Given the description of an element on the screen output the (x, y) to click on. 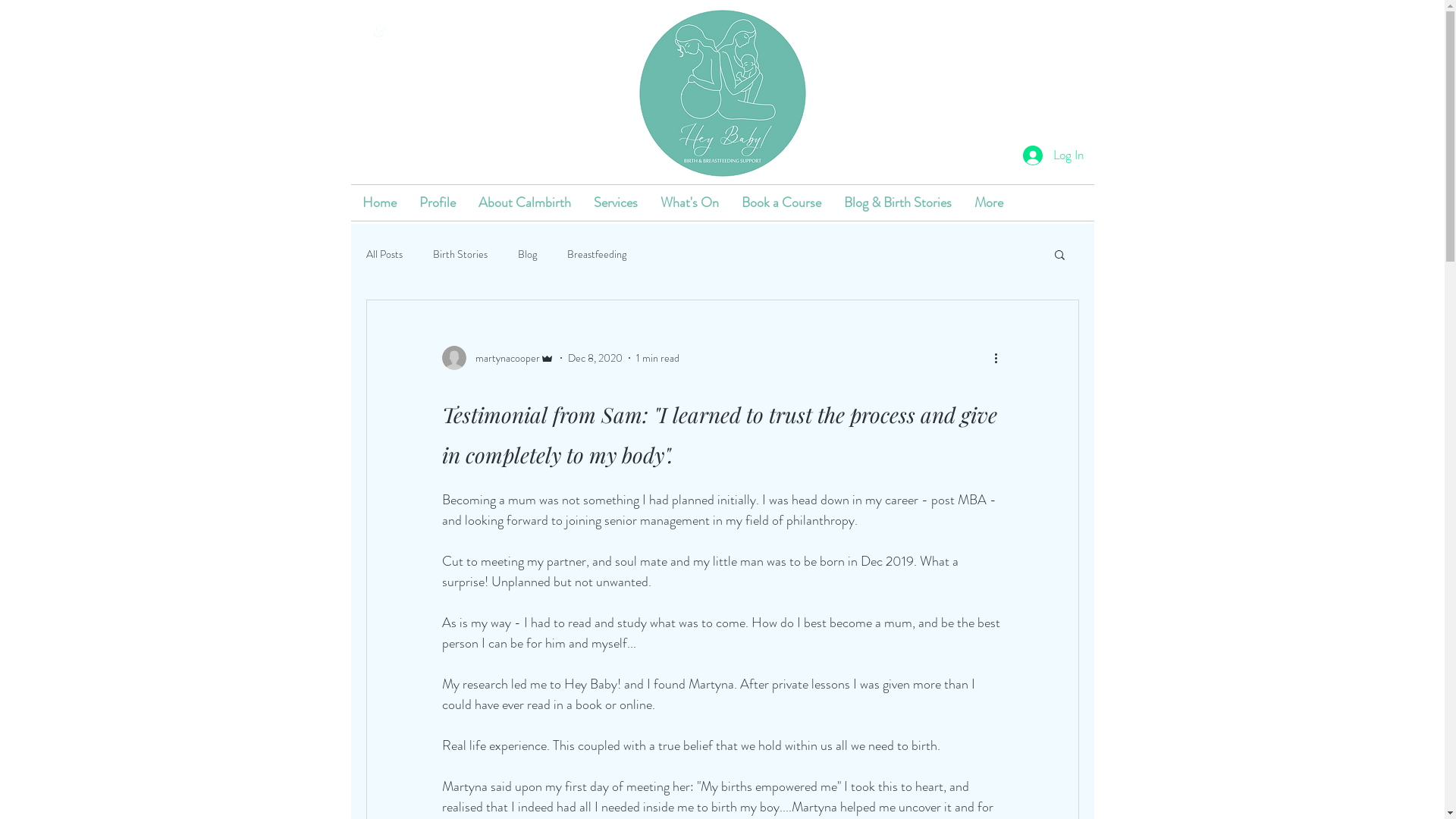
About Calmbirth Element type: text (524, 202)
All Posts Element type: text (383, 253)
Services Element type: text (615, 202)
& Element type: text (378, 30)
martynacooper Element type: text (497, 357)
Breastfeeding Element type: text (596, 253)
Blog Element type: text (526, 253)
Profile Element type: text (437, 202)
Home Element type: text (378, 202)
Blog & Birth Stories Element type: text (897, 202)
Book a Course Element type: text (780, 202)
Birth Stories Element type: text (459, 253)
Log In Element type: text (1052, 155)
What's On Element type: text (689, 202)
